Given the description of an element on the screen output the (x, y) to click on. 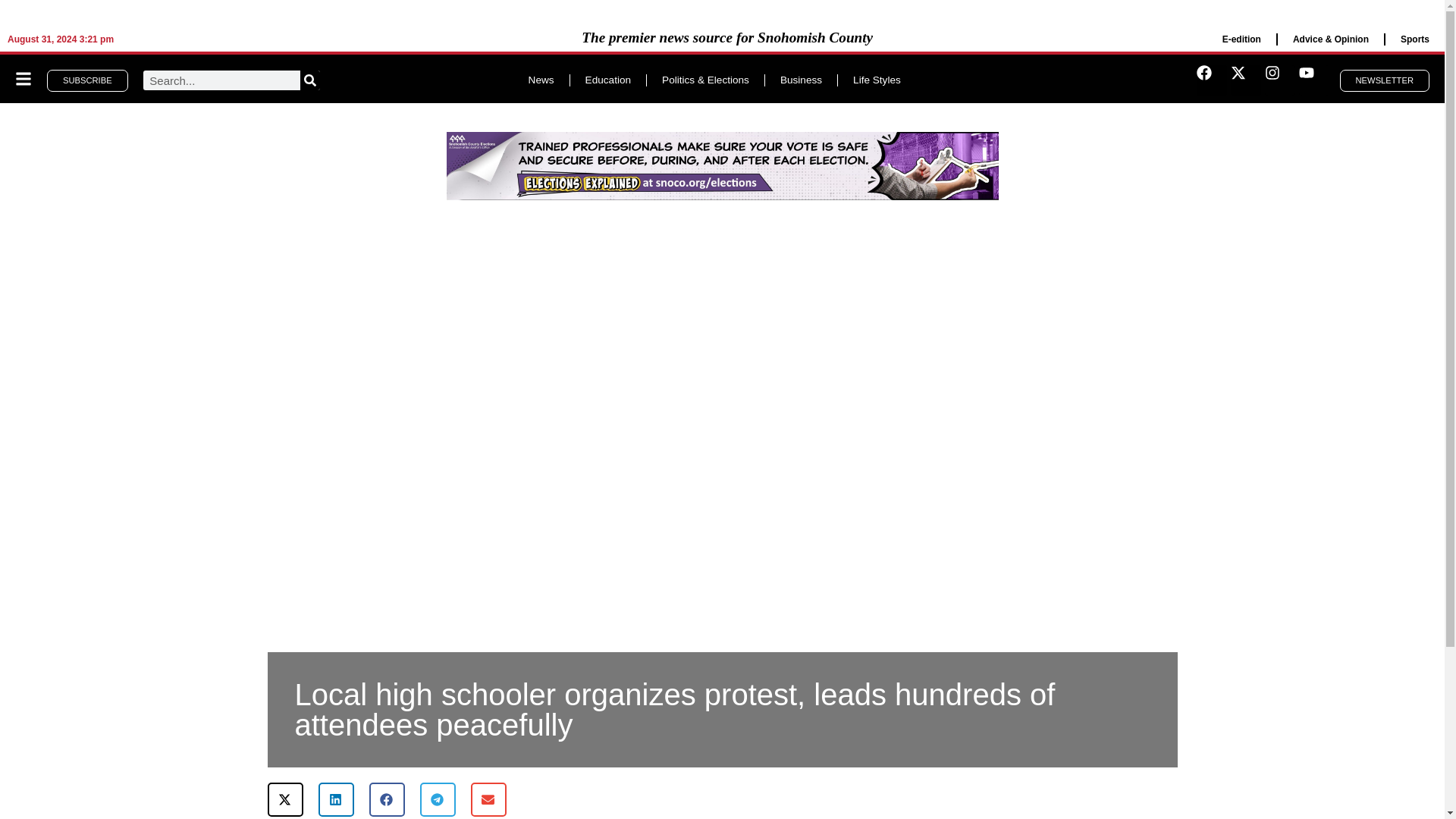
Life Styles (876, 80)
Business (801, 80)
NEWSLETTER (1384, 80)
SUBSCRIBE (87, 80)
News (541, 80)
E-edition (1241, 39)
Education (608, 80)
